Given the description of an element on the screen output the (x, y) to click on. 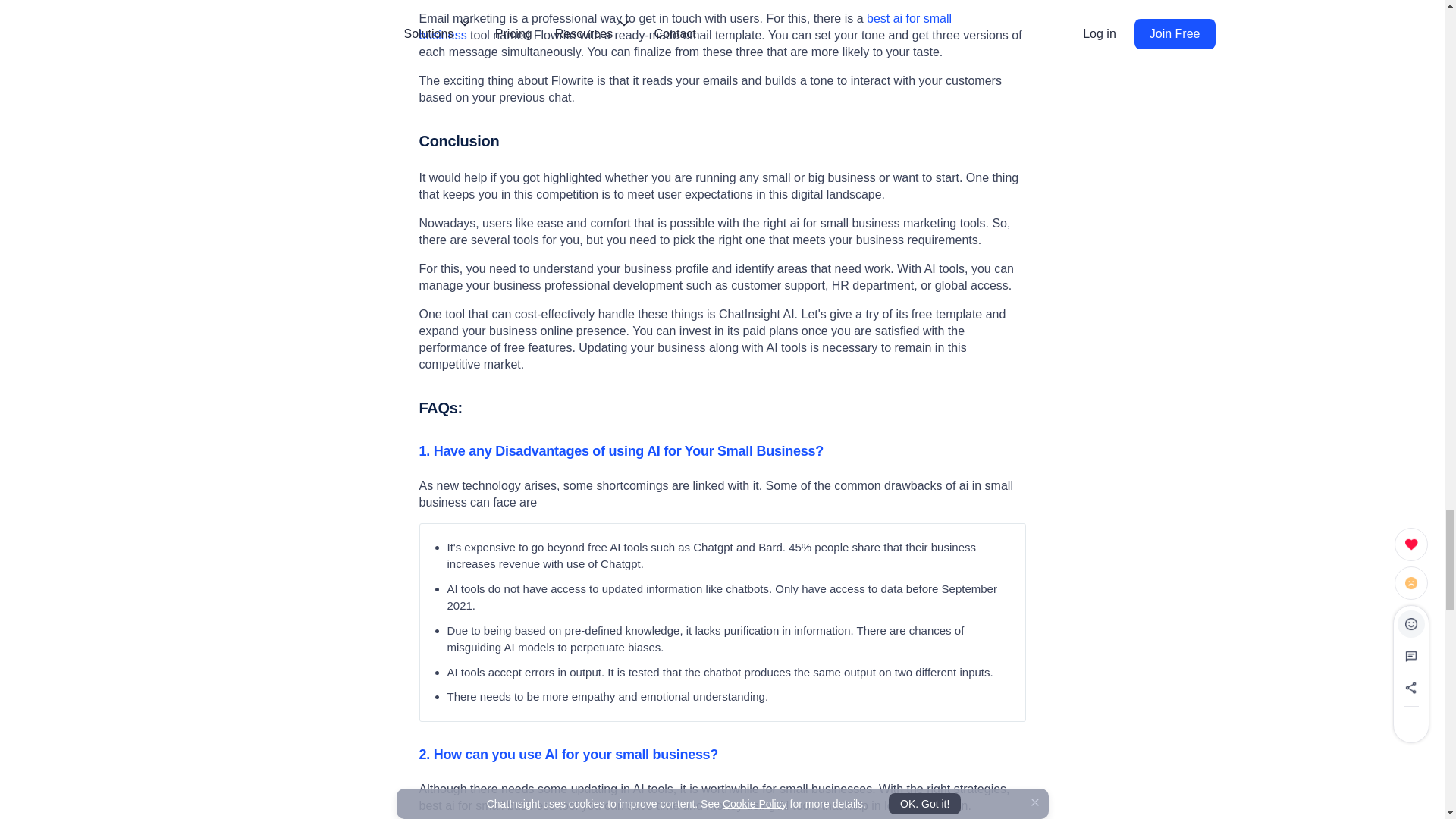
best AI for small business (685, 26)
